Given the description of an element on the screen output the (x, y) to click on. 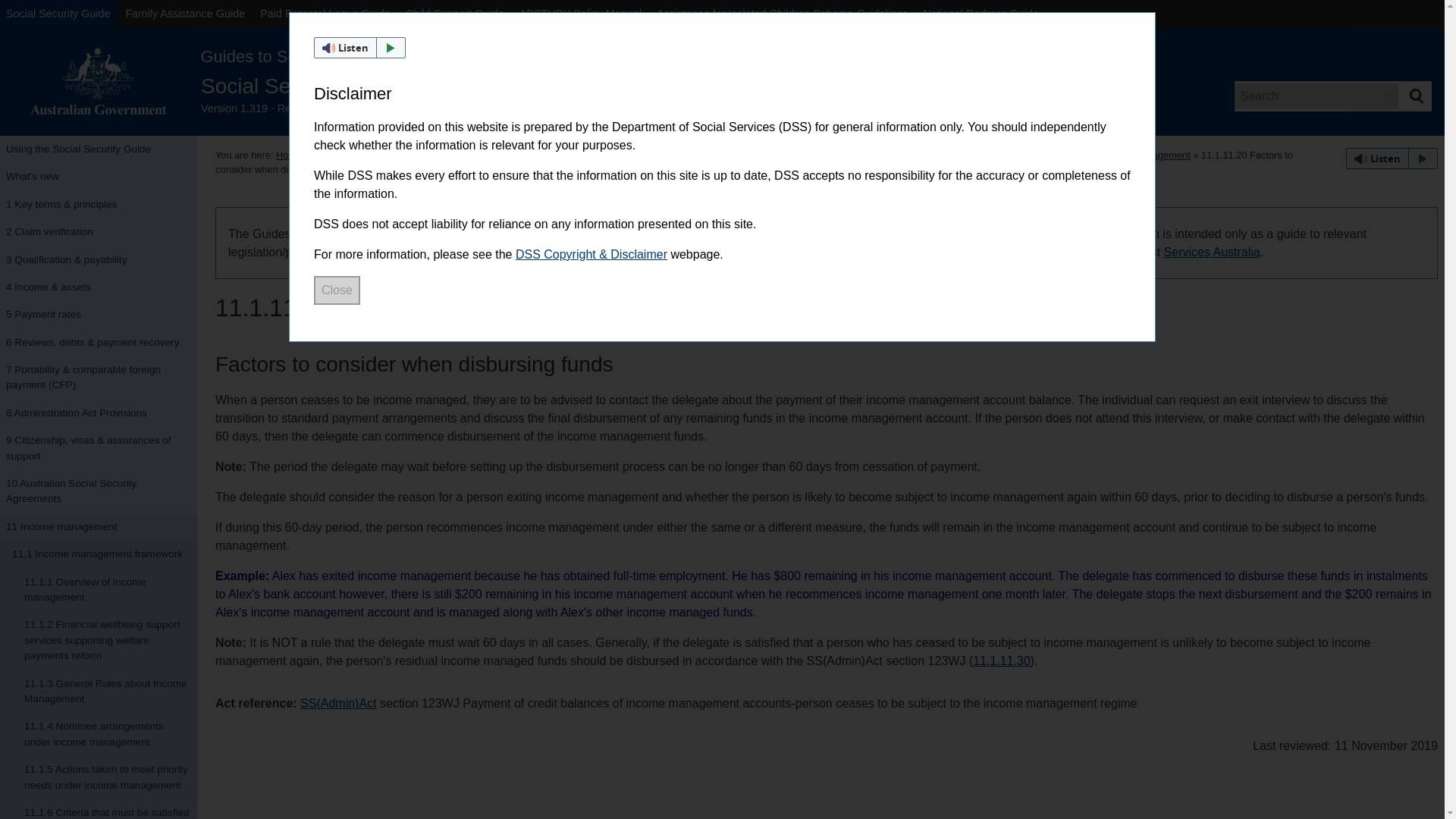
ABSTUDY Policy Manual (580, 14)
Assistance for Isolated Children Scheme Guidelines (782, 14)
Listen (1391, 158)
National Redress Guide (981, 14)
11.1.1 Overview of income management (98, 589)
Listen (360, 47)
Search (1415, 96)
11.1 Income management framework (98, 554)
